Given the description of an element on the screen output the (x, y) to click on. 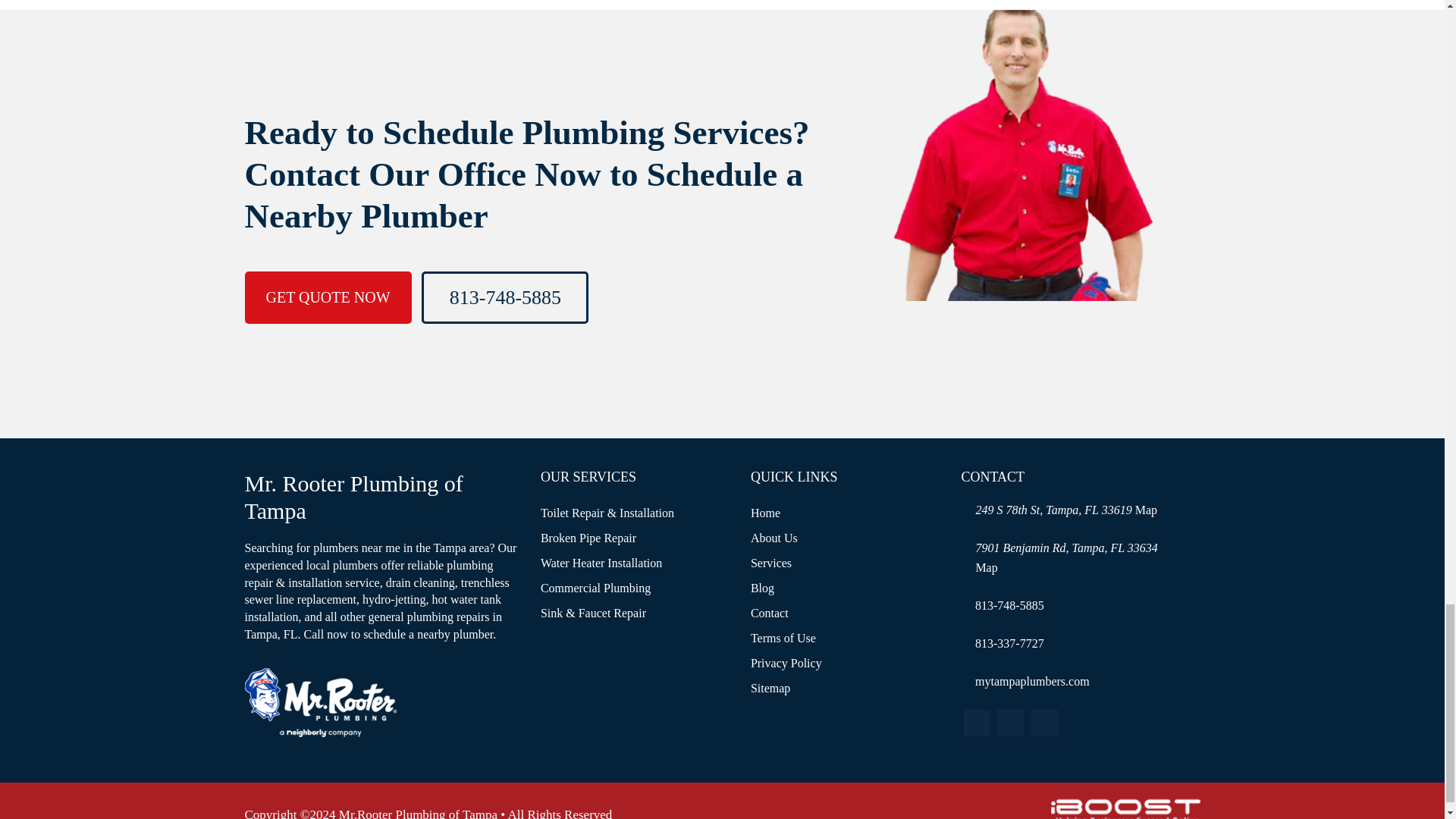
Plumbers in Tampa (986, 567)
Plumbers in Tampa (1146, 509)
Plumber Near Me (320, 701)
